Given the description of an element on the screen output the (x, y) to click on. 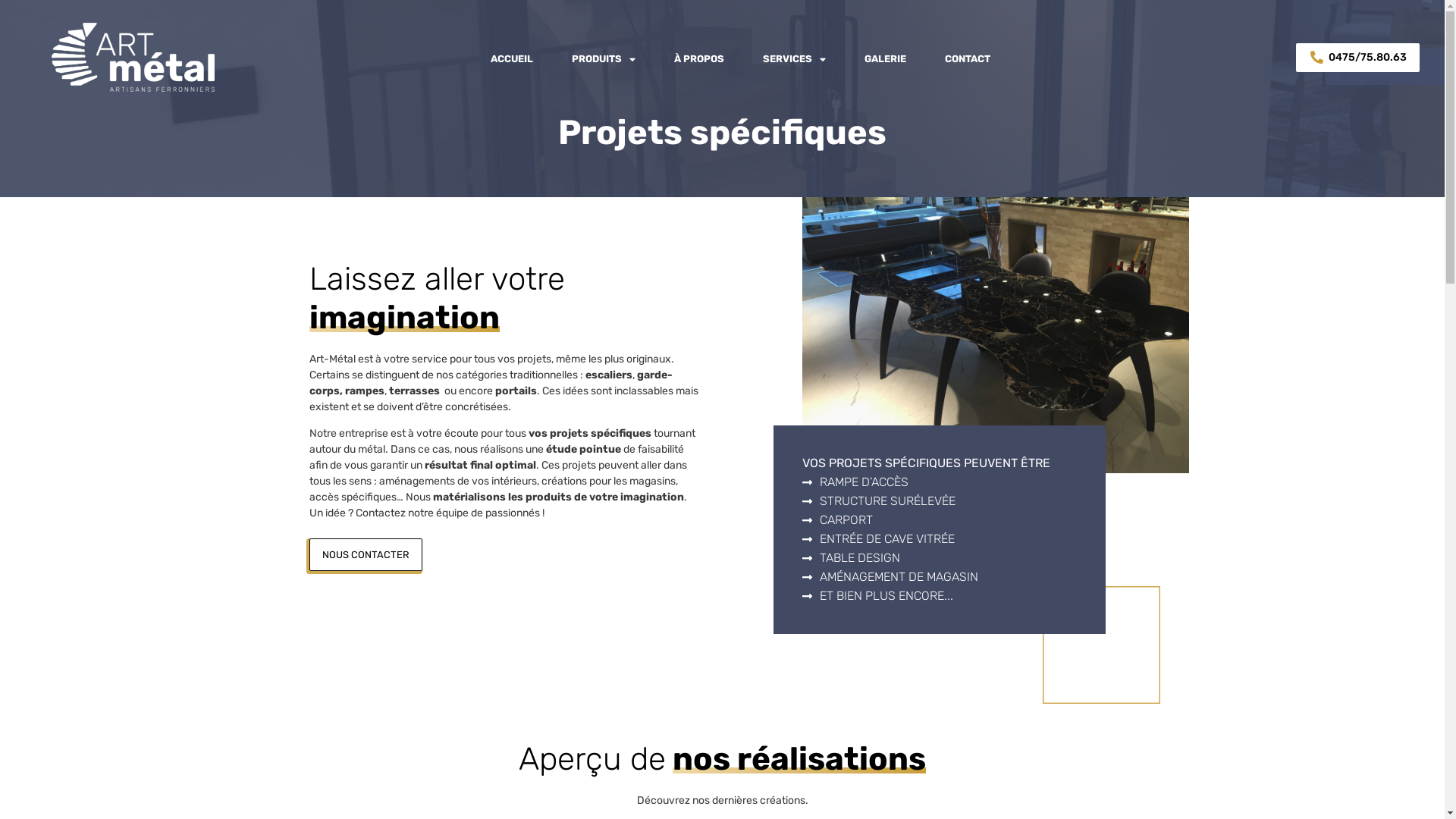
NOUS CONTACTER Element type: text (365, 554)
0475/75.80.63 Element type: text (1357, 57)
CONTACT Element type: text (967, 59)
escaliers Element type: text (608, 374)
garde-corps, rampes Element type: text (490, 382)
portails Element type: text (515, 390)
terrasses Element type: text (413, 390)
PRODUITS Element type: text (603, 59)
ACCUEIL Element type: text (511, 59)
GALERIE Element type: text (884, 59)
SERVICES Element type: text (794, 59)
